Given the description of an element on the screen output the (x, y) to click on. 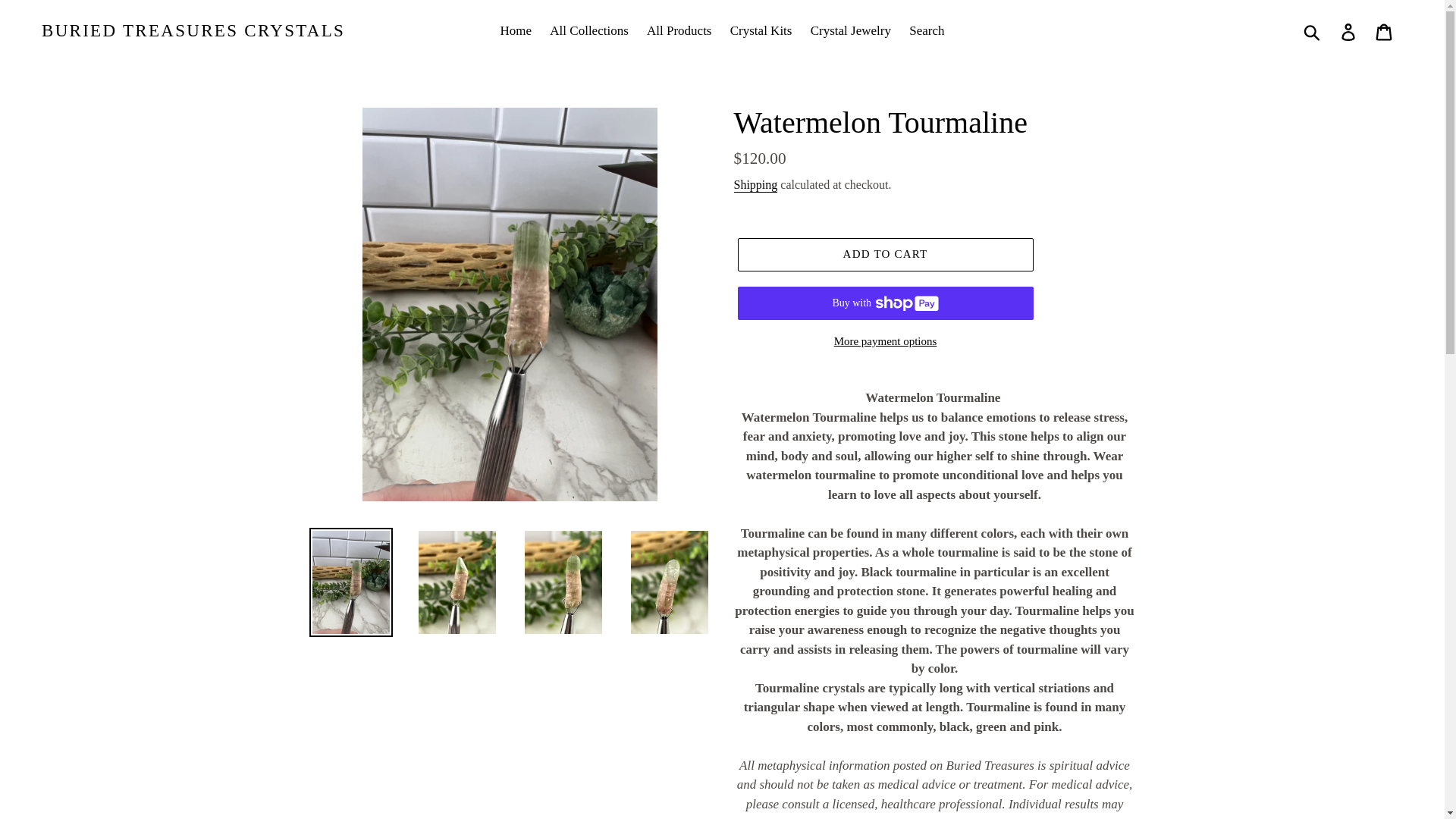
All Collections (587, 30)
All Products (679, 30)
BURIED TREASURES CRYSTALS (193, 30)
Cart (1385, 30)
Crystal Kits (760, 30)
ADD TO CART (884, 254)
Log in (1349, 30)
More payment options (884, 341)
Search (926, 30)
Home (516, 30)
Submit (1313, 30)
Shipping (755, 185)
Crystal Jewelry (850, 30)
